Given the description of an element on the screen output the (x, y) to click on. 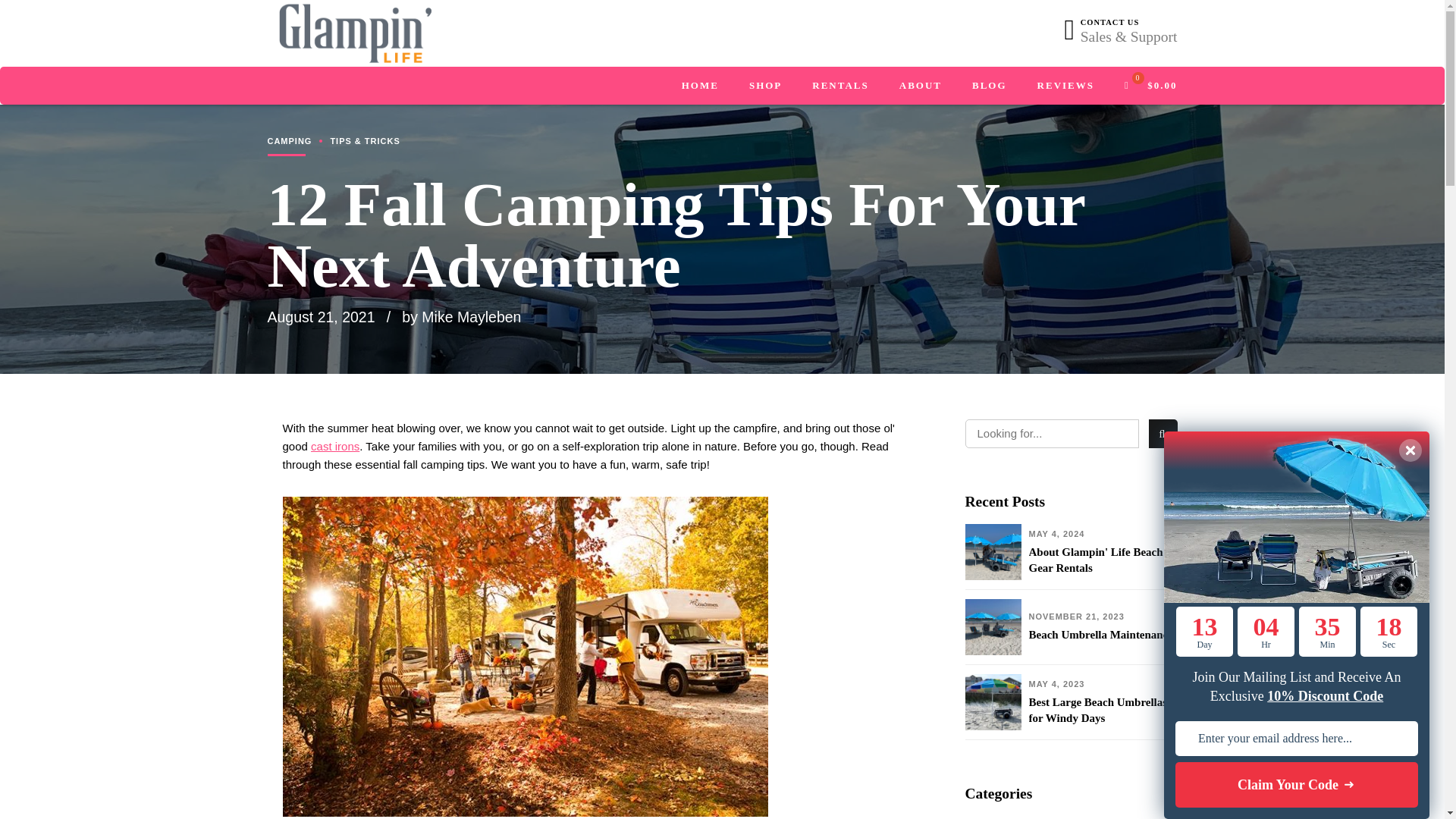
Beach Umbrella Maintenance (1100, 634)
About Glampin' Life Beach Gear Rentals (1101, 560)
Beach Umbrella Maintenance (1100, 634)
About Glampin' Life Beach Gear Rentals (1101, 560)
by Mike Mayleben (461, 316)
Best Large Beach Umbrellas for Windy Days (1101, 710)
RENTALS (839, 85)
ABOUT (920, 85)
cast irons (335, 445)
HOME (700, 85)
BLOG (989, 85)
REVIEWS (1065, 85)
CAMPING (288, 140)
